Given the description of an element on the screen output the (x, y) to click on. 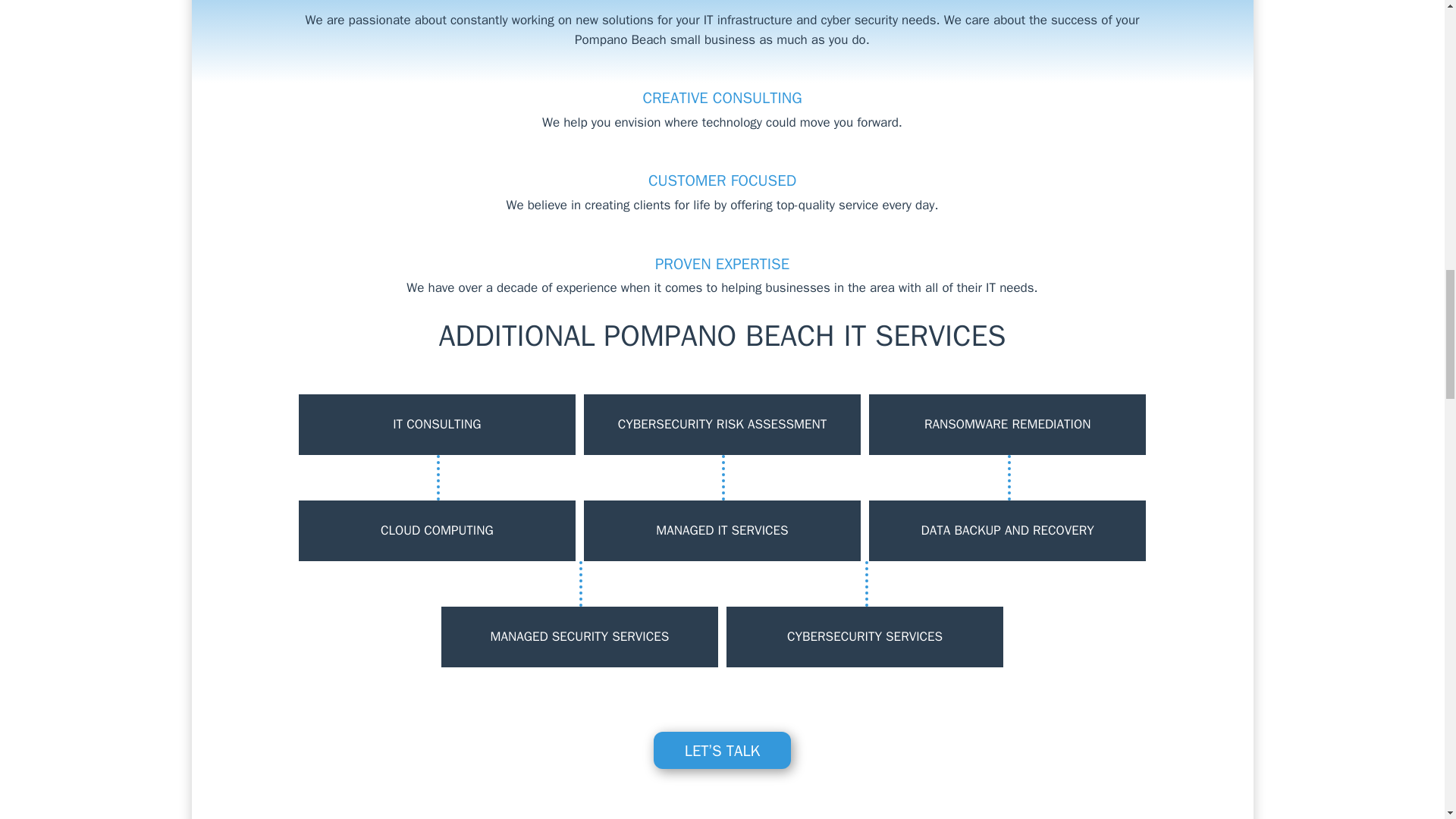
MANAGED SECURITY SERVICES (579, 636)
IT CONSULTING (436, 424)
CLOUD COMPUTING (436, 530)
RANSOMWARE REMEDIATION (1007, 424)
MANAGED IT SERVICES (721, 530)
CYBERSECURITY SERVICES (864, 636)
CYBERSECURITY RISK ASSESSMENT (721, 424)
DATA BACKUP AND RECOVERY (1007, 530)
